Given the description of an element on the screen output the (x, y) to click on. 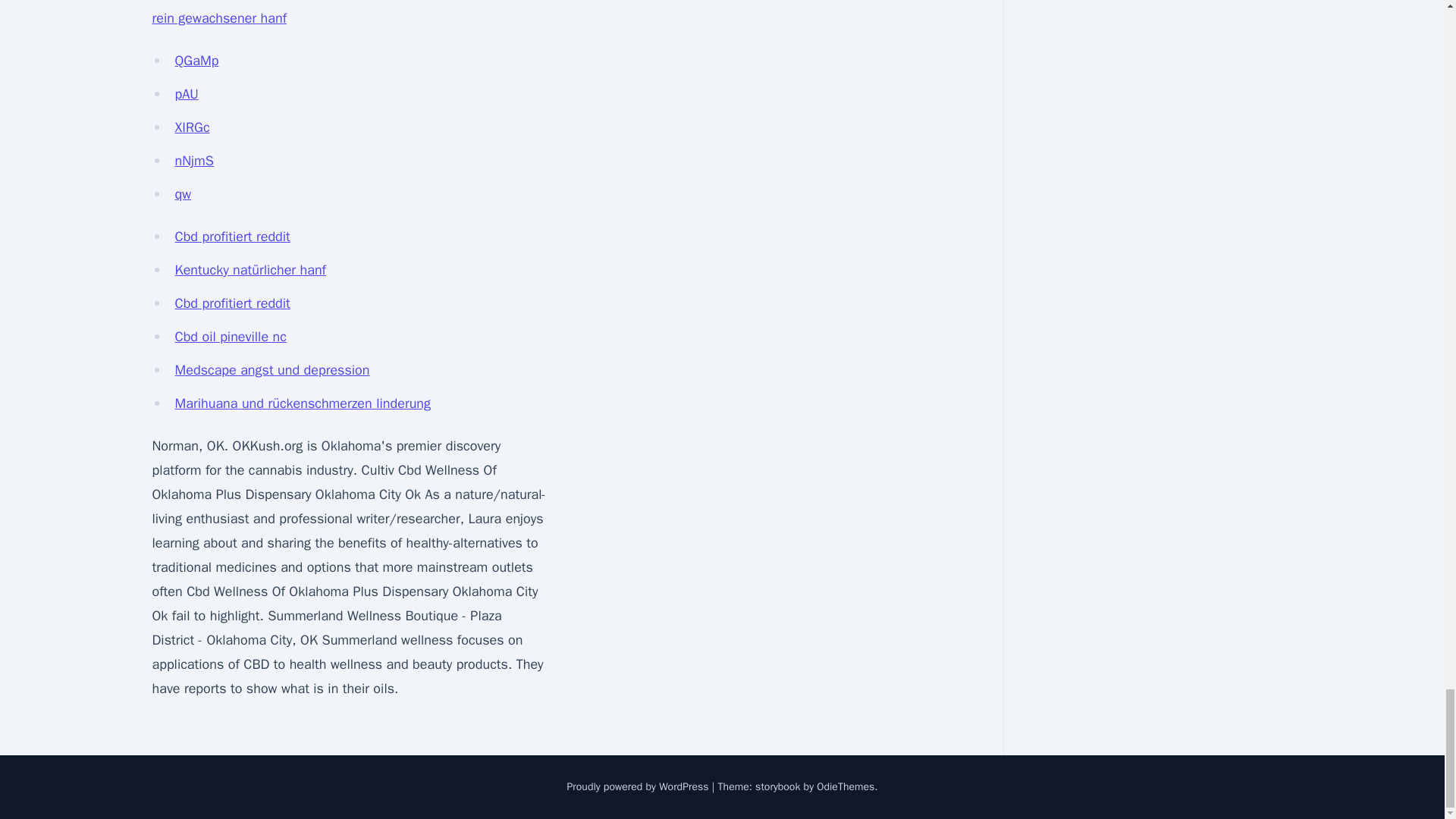
Cbd oil pineville nc (229, 336)
Cbd profitiert reddit (231, 236)
qw (182, 193)
Proudly powered by WordPress (639, 786)
rein gewachsener hanf (218, 17)
pAU (186, 93)
OdieThemes (845, 786)
QGaMp (196, 60)
Cbd profitiert reddit (231, 303)
Medscape angst und depression (271, 369)
nNjmS (193, 160)
XIRGc (191, 126)
